Given the description of an element on the screen output the (x, y) to click on. 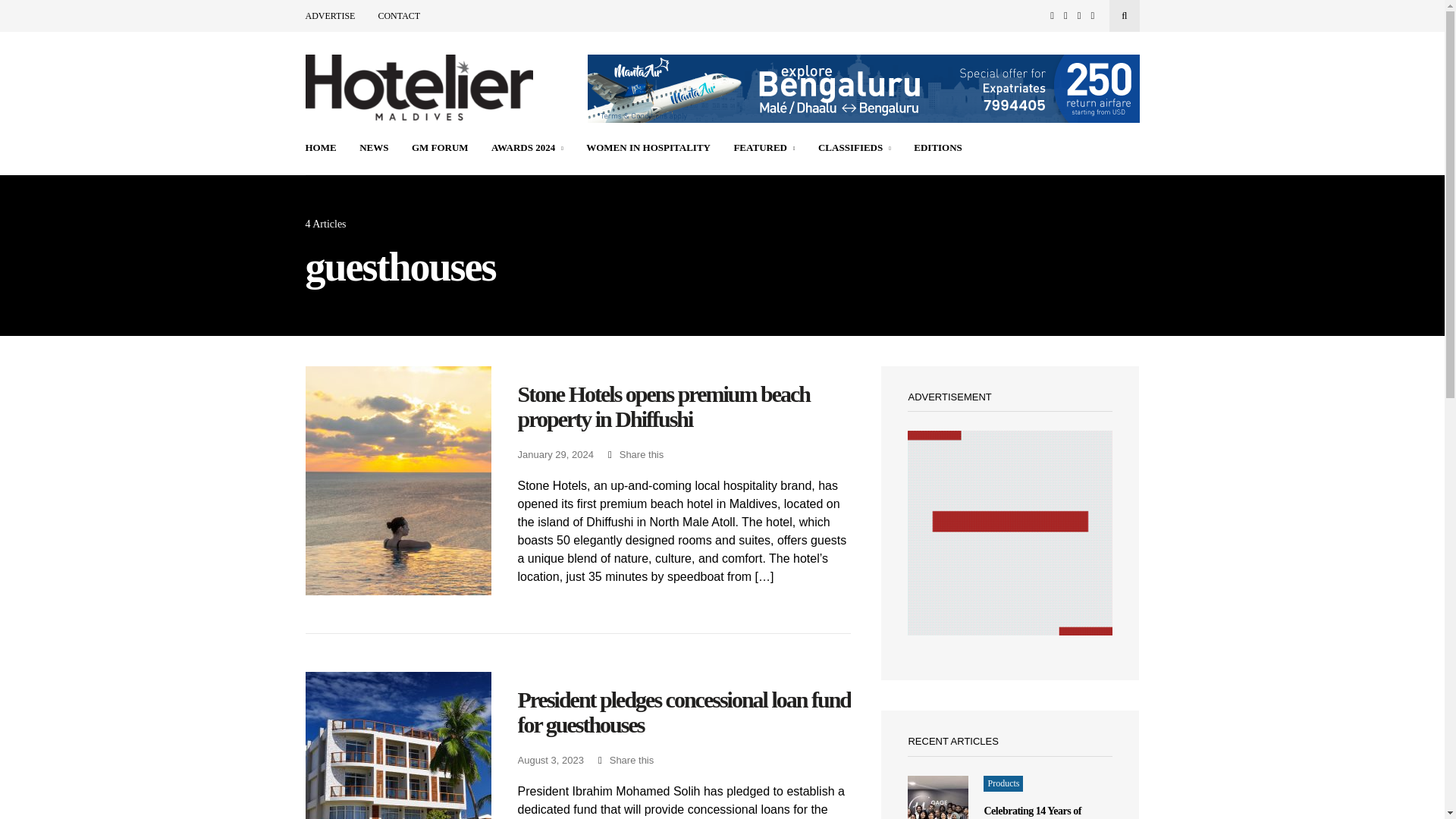
President pledges concessional loan fund for guesthouses (683, 712)
GM FORUM (440, 148)
CLASSIFIEDS (854, 148)
WOMEN IN HOSPITALITY (648, 148)
AWARDS 2024 (527, 148)
ADVERTISE (329, 15)
CONTACT (398, 15)
EDITIONS (938, 148)
Stone Hotels opens premium beach property in Dhiffushi (683, 406)
FEATURED (763, 148)
